Given the description of an element on the screen output the (x, y) to click on. 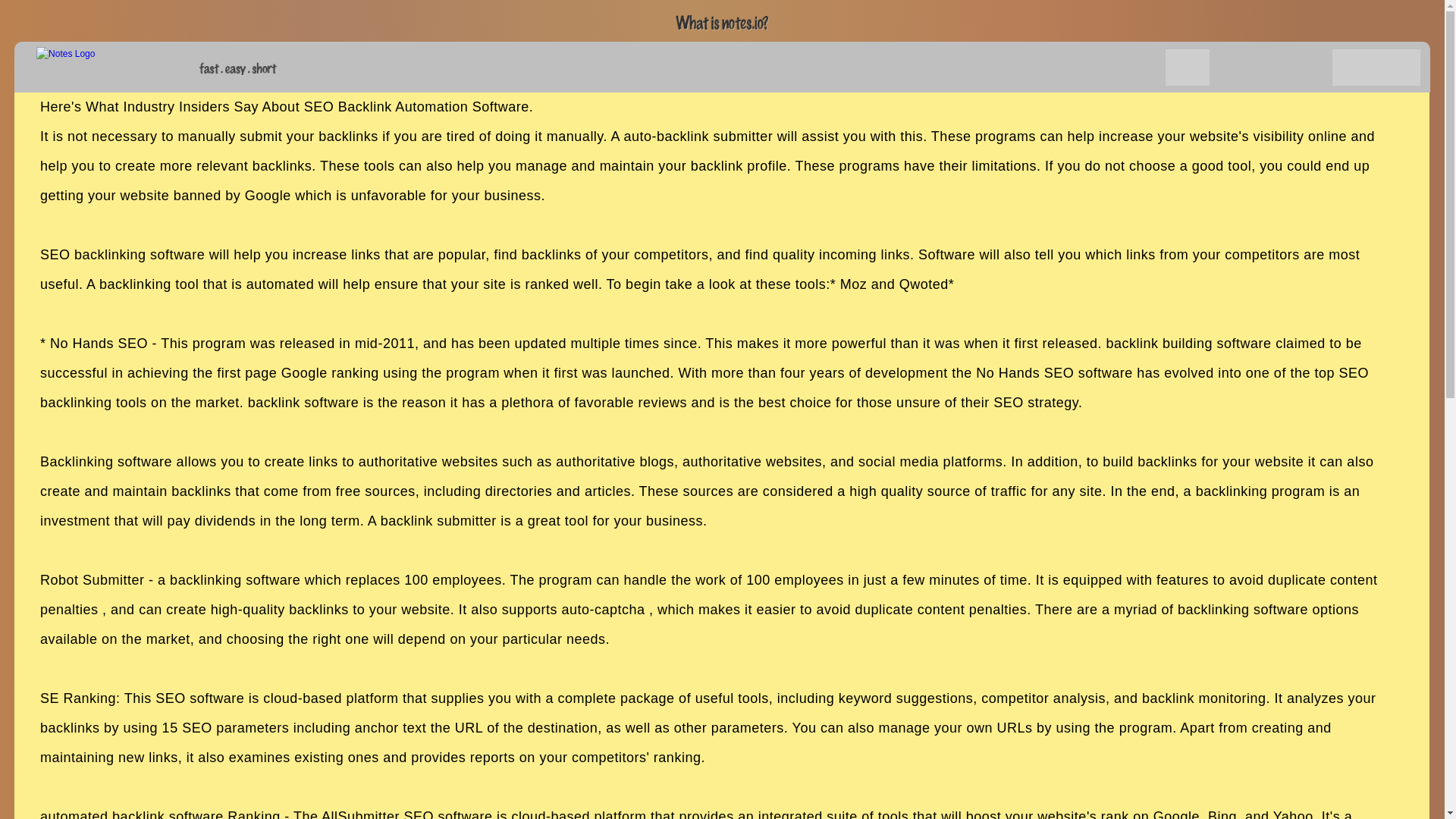
notes (100, 61)
YEKe (1187, 67)
Fast, easy and short (237, 68)
Account (1398, 67)
Coming soon (1270, 67)
what is notes.io? (721, 22)
Popular notes (1143, 67)
Account (1353, 67)
